Given the description of an element on the screen output the (x, y) to click on. 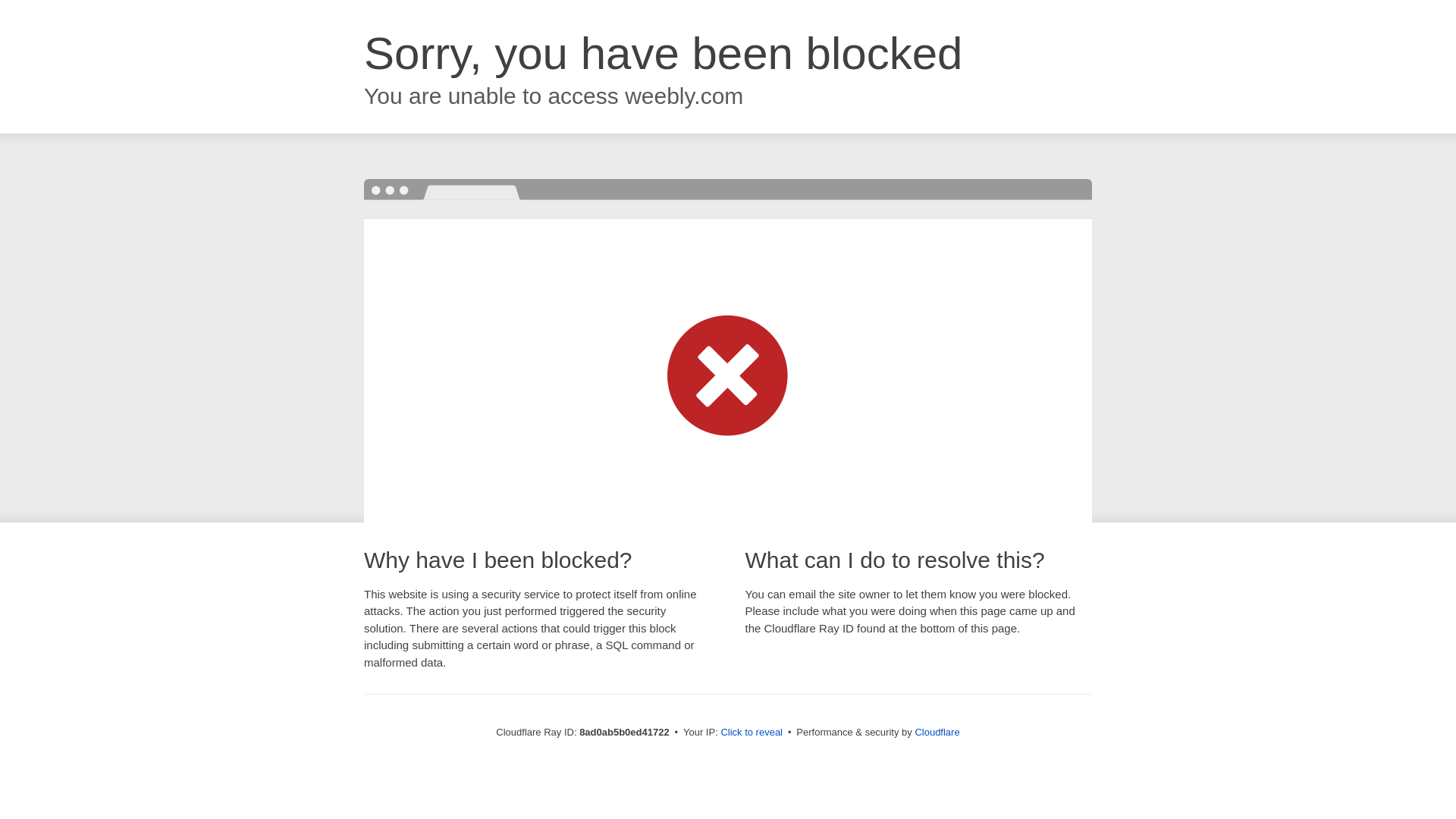
Cloudflare (936, 731)
Click to reveal (751, 732)
